Given the description of an element on the screen output the (x, y) to click on. 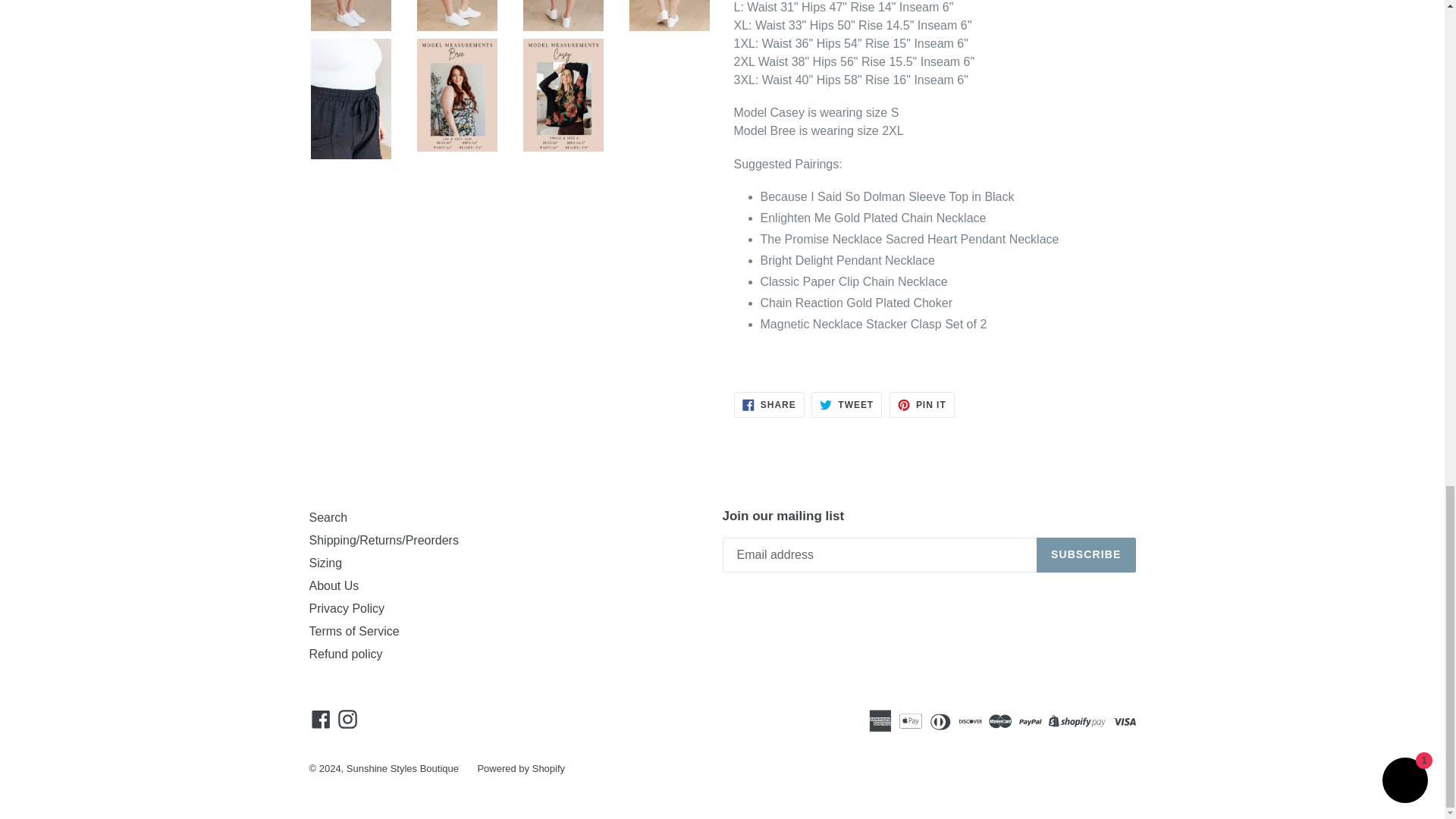
Sunshine Styles Boutique on Instagram (347, 719)
Tweet on Twitter (846, 404)
Pin on Pinterest (922, 404)
Sunshine Styles Boutique on Facebook (320, 719)
Share on Facebook (769, 404)
